Given the description of an element on the screen output the (x, y) to click on. 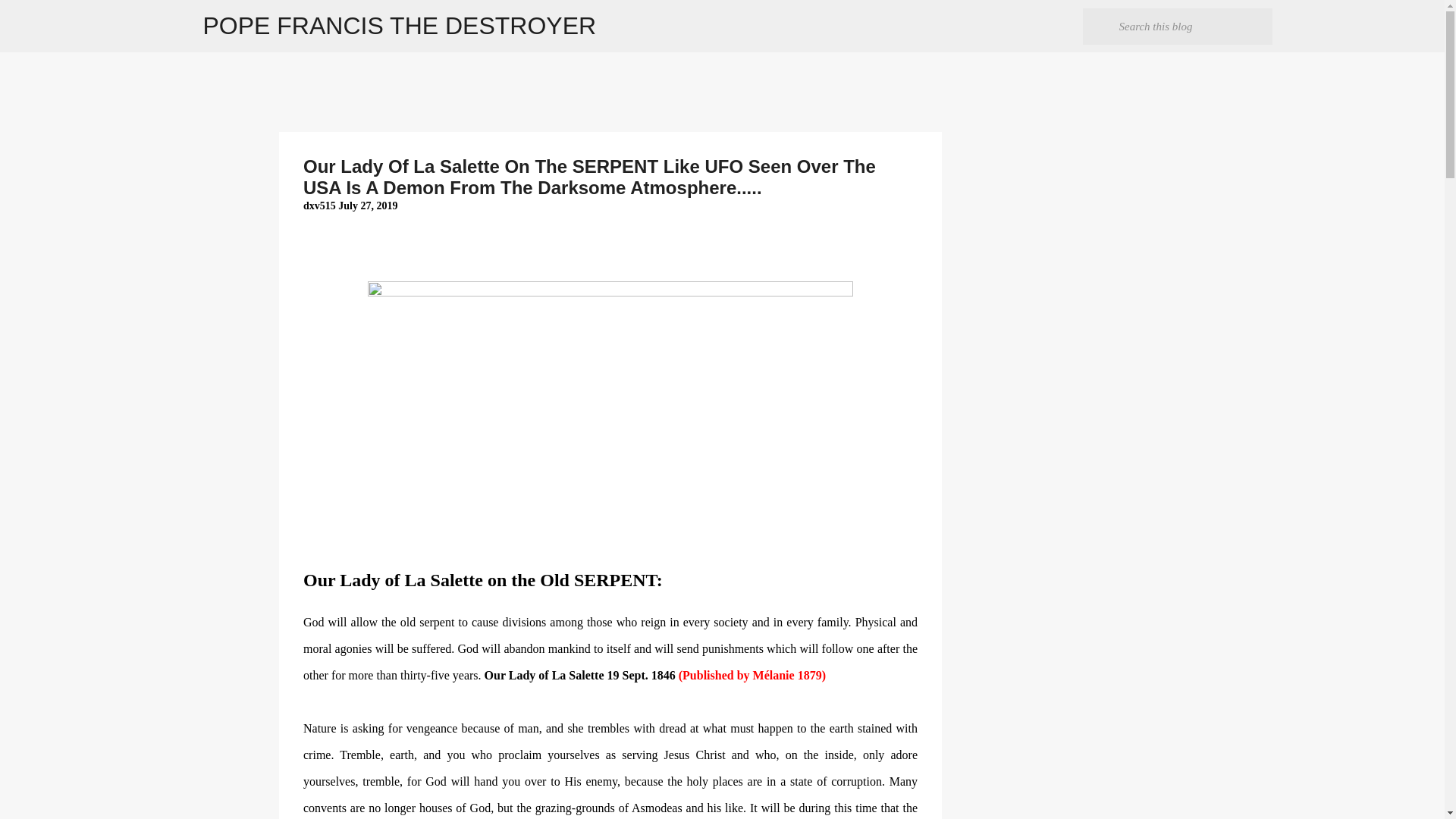
permanent link (367, 205)
POPE FRANCIS THE DESTROYER (399, 25)
dxv515 (319, 205)
July 27, 2019 (367, 205)
author profile (319, 205)
